Given the description of an element on the screen output the (x, y) to click on. 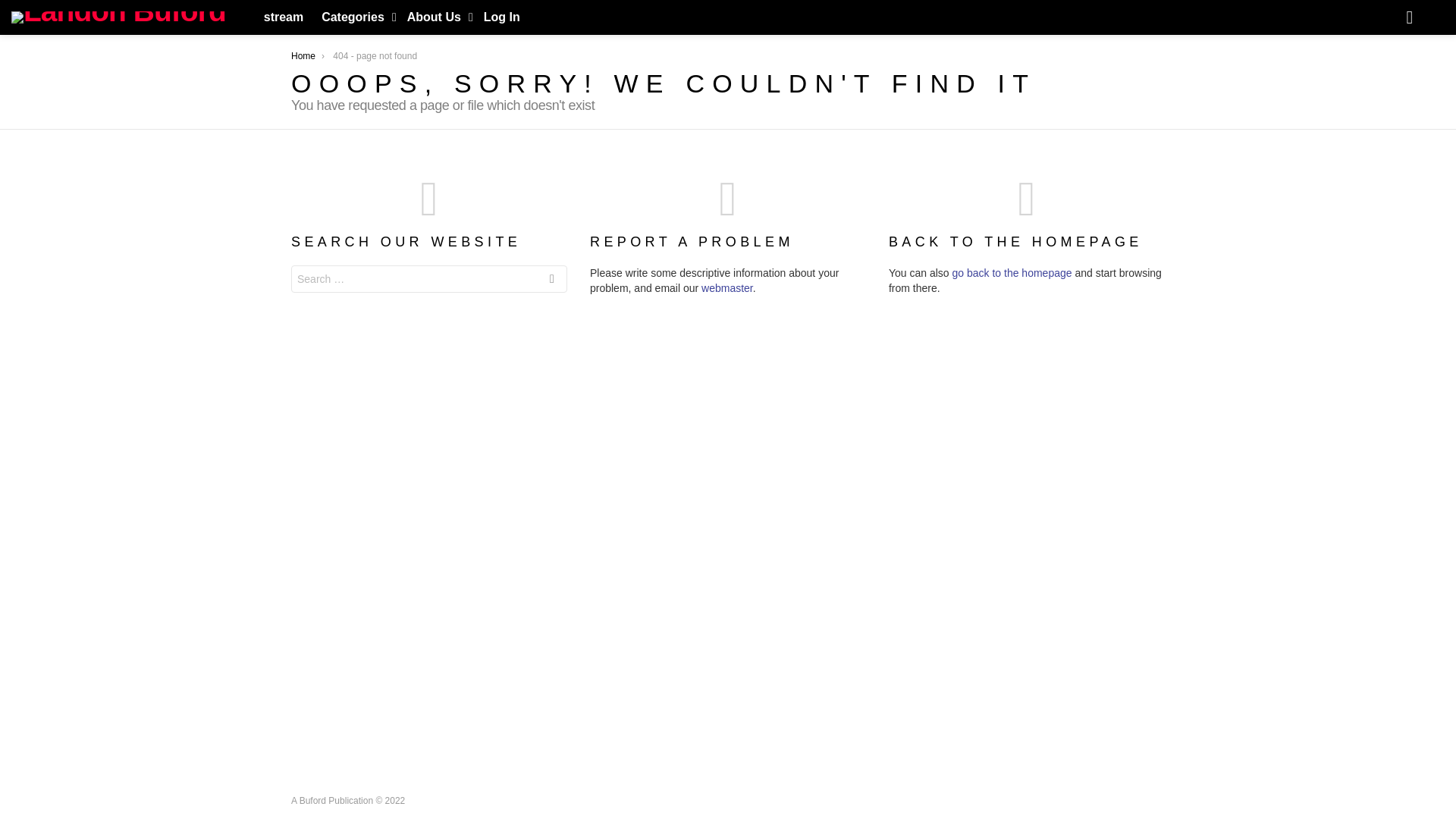
webmaster (726, 287)
Home (303, 55)
Search for: (429, 278)
About Us (435, 16)
Search (552, 280)
stream (283, 16)
Log In (501, 16)
go back to the homepage (1011, 272)
Categories (355, 16)
